Given the description of an element on the screen output the (x, y) to click on. 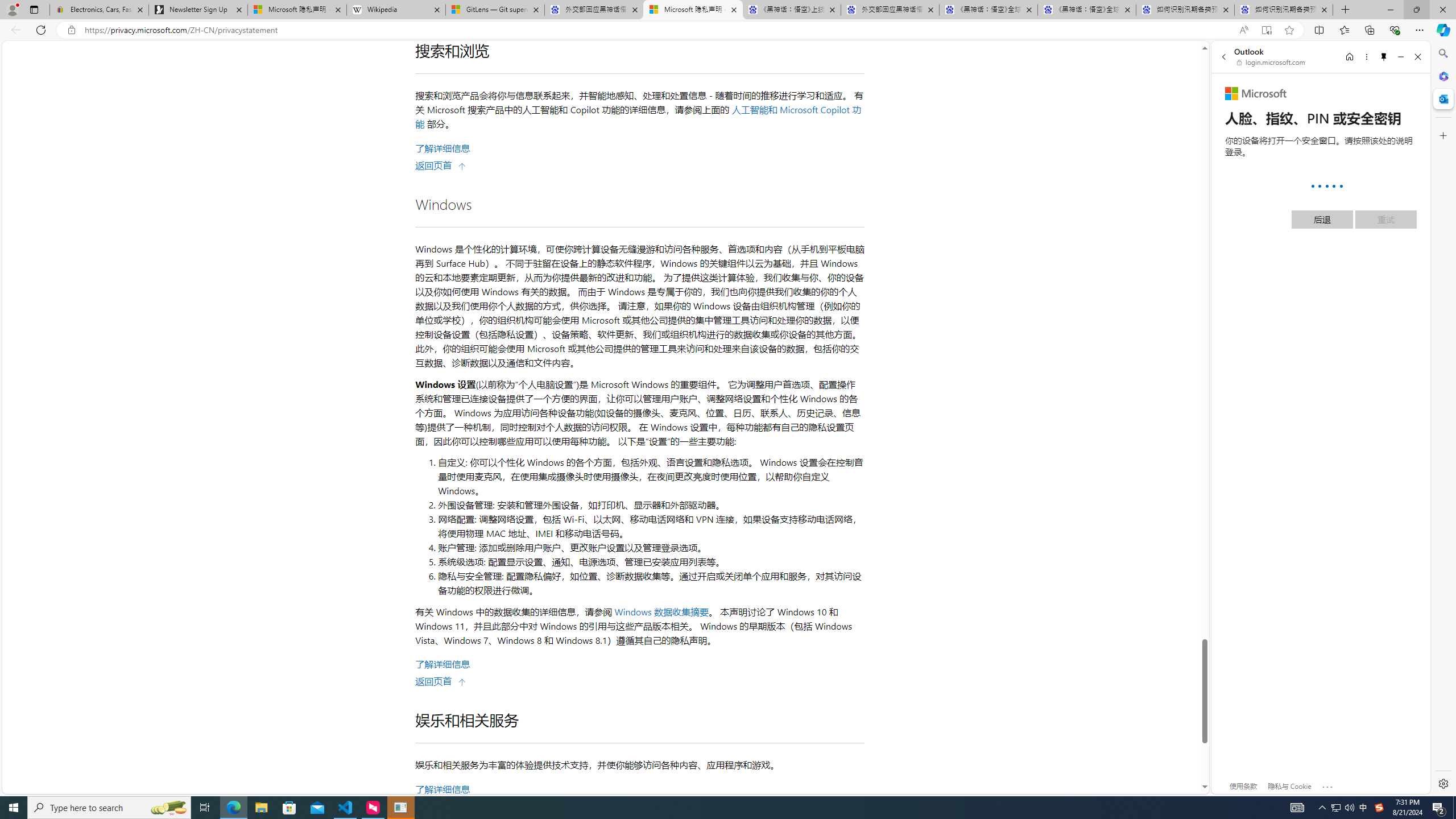
login.microsoft.com (1271, 61)
